Given the description of an element on the screen output the (x, y) to click on. 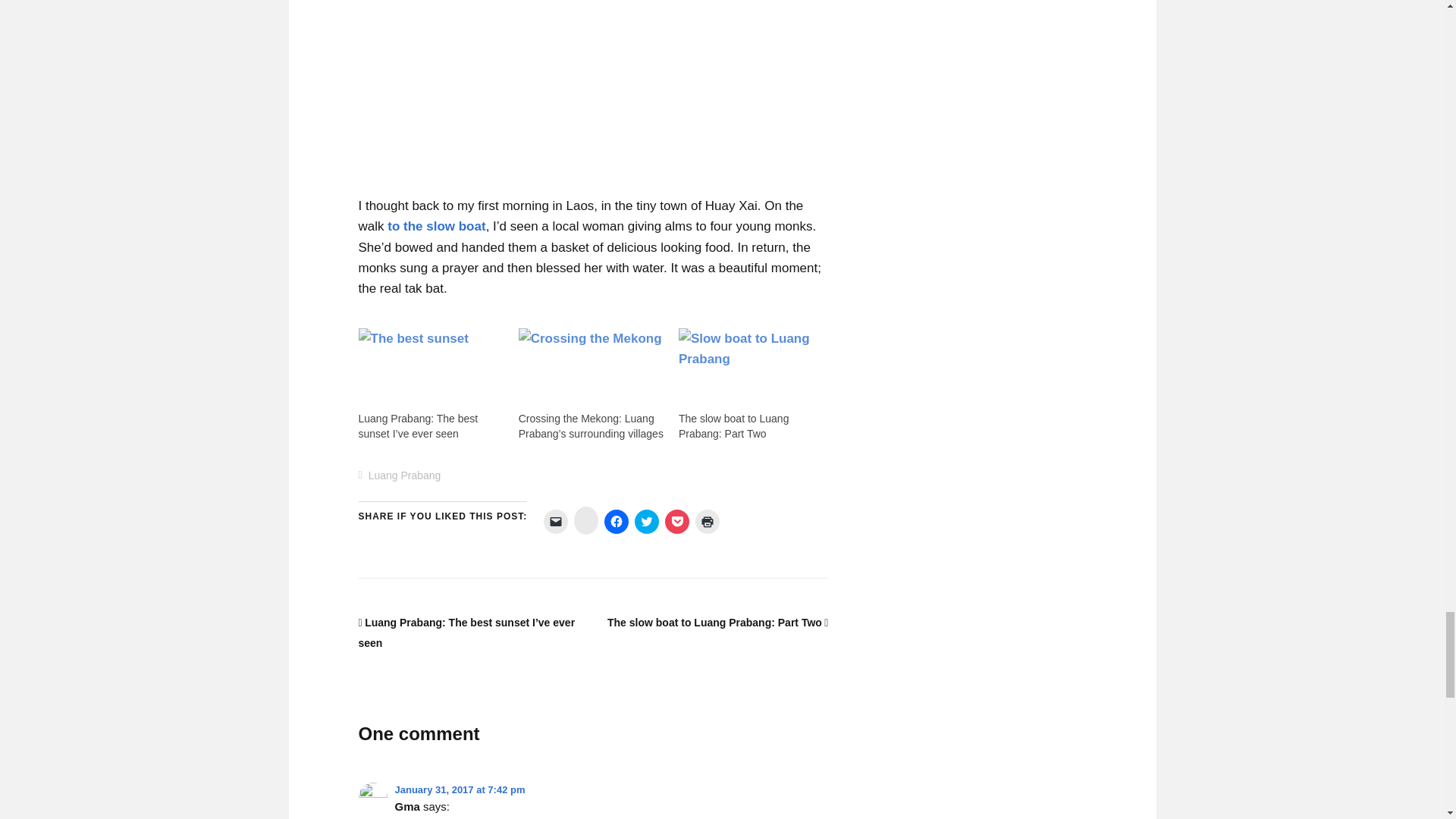
Click to email a link to a friend (555, 521)
The slow boat to Luang Prabang: Part Two (751, 369)
Click to share on Facebook (616, 521)
Click to print (707, 521)
Click to share on Twitter (646, 521)
Click to share on Pocket (676, 521)
The slow boat to Luang Prabang: Part Two (733, 425)
